Given the description of an element on the screen output the (x, y) to click on. 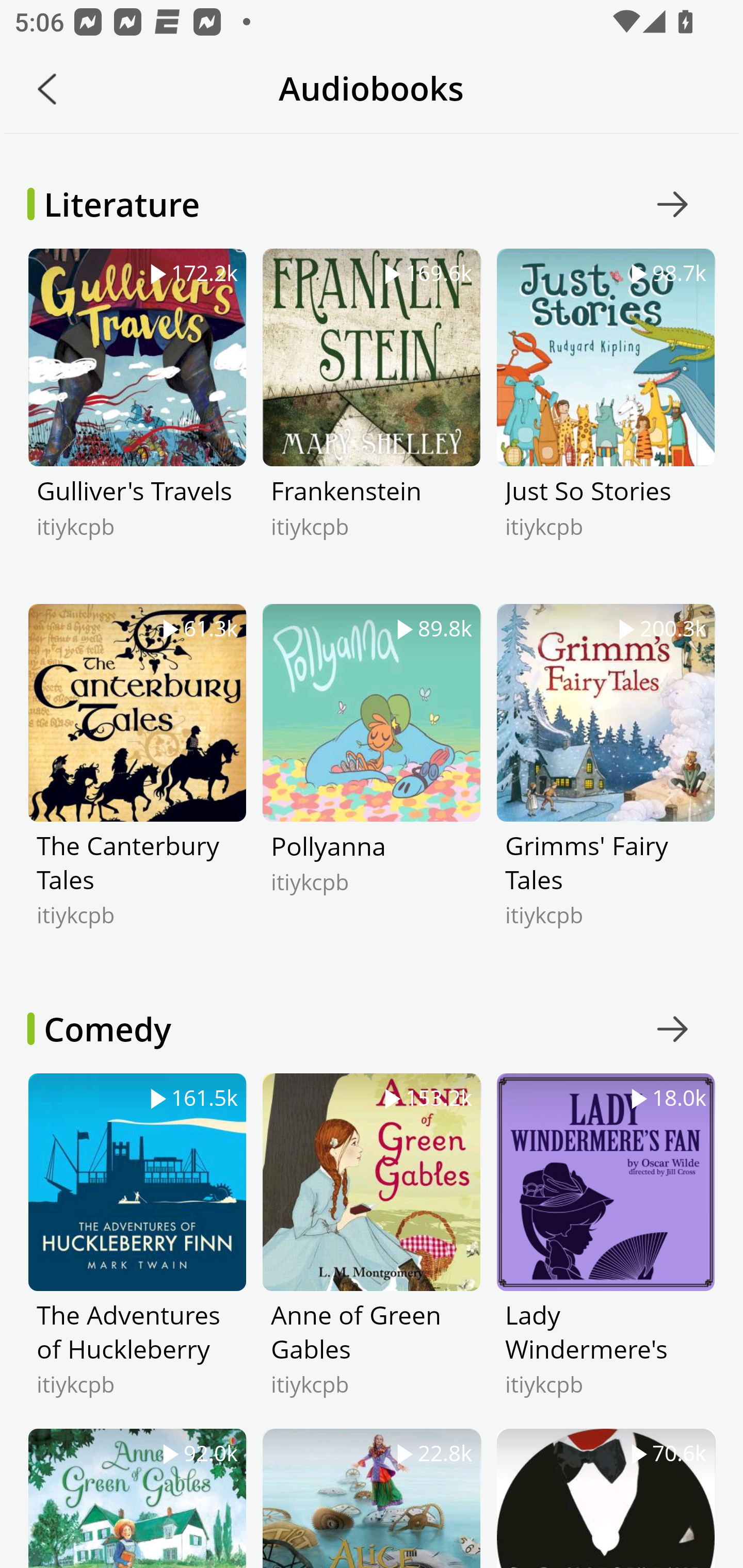
Back (46, 88)
172.2k Gulliver's Travels itiykcpb (137, 425)
169.6k Frankenstein itiykcpb (371, 425)
98.7k Just So Stories itiykcpb (605, 425)
61.3k The Canterbury Tales itiykcpb (137, 780)
89.8k Pollyanna itiykcpb (371, 780)
200.3k Grimms' Fairy Tales itiykcpb (605, 780)
161.5k The Adventures of Huckleberry Finn itiykcpb (137, 1250)
153.2k Anne of Green Gables itiykcpb (371, 1250)
18.0k Lady Windermere's Fan itiykcpb (605, 1250)
92.0k (137, 1498)
22.8k (371, 1498)
70.6k (605, 1498)
